Given the description of an element on the screen output the (x, y) to click on. 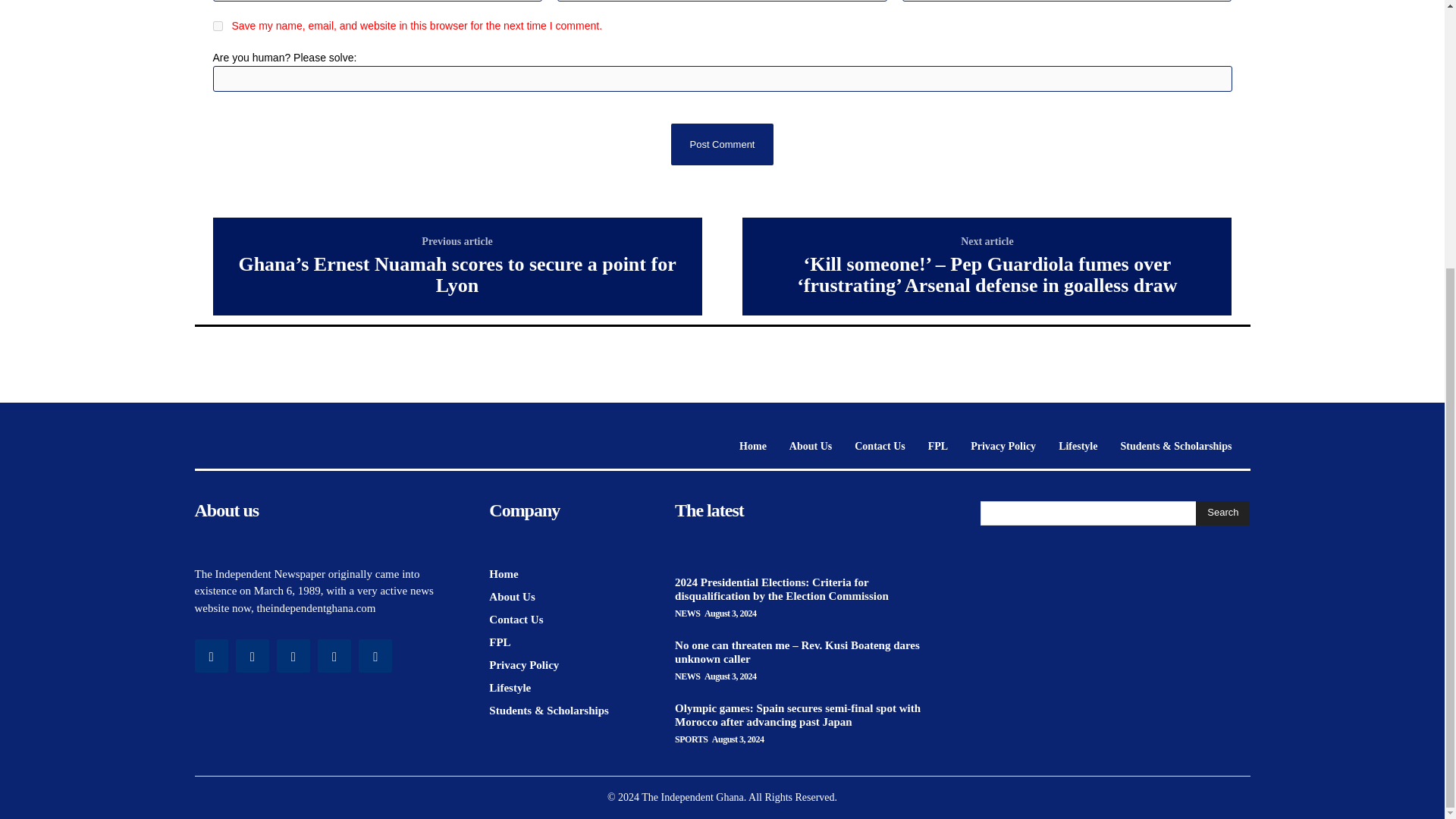
Post Comment (721, 144)
yes (217, 26)
